Given the description of an element on the screen output the (x, y) to click on. 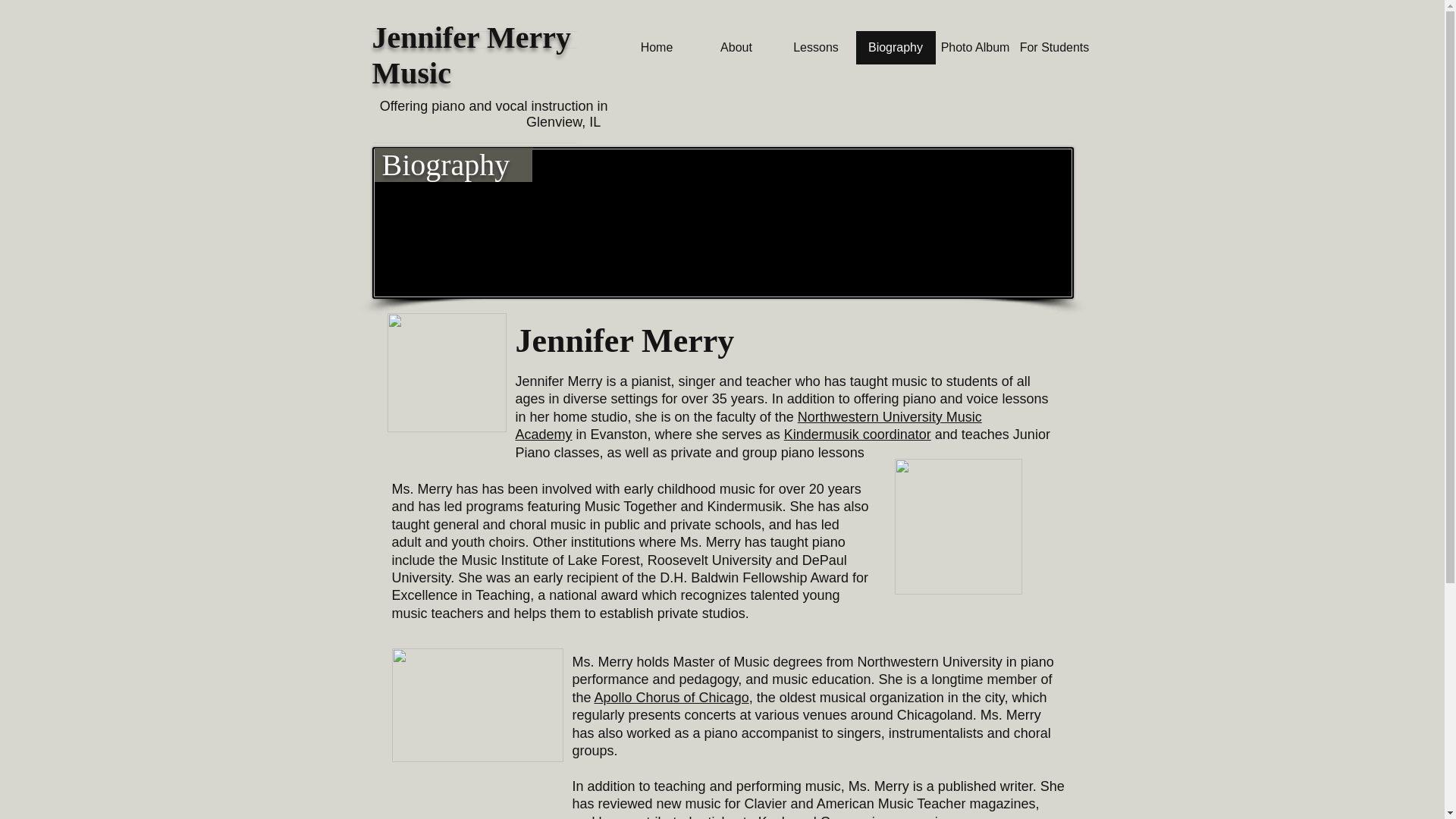
Photo Album (975, 47)
For Students (1053, 47)
Lessons (816, 47)
Home (657, 47)
About (735, 47)
Apollo Chorus of Chicago (671, 697)
Jennifer Merry Music (470, 55)
Kindermusik coordinator (857, 434)
Northwestern University Music Academy (748, 425)
Biography (895, 47)
